Given the description of an element on the screen output the (x, y) to click on. 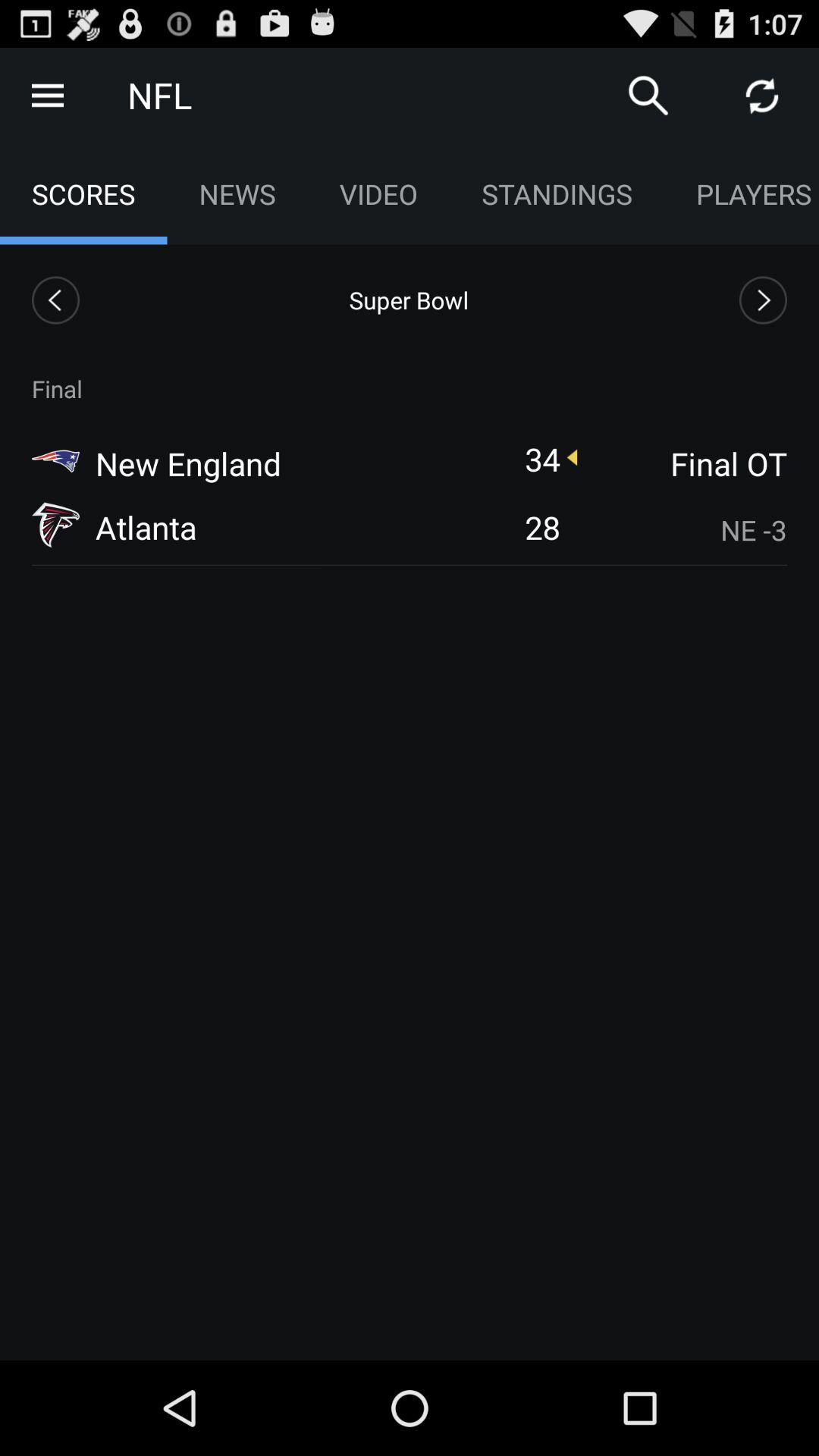
press atlanta app (145, 526)
